Given the description of an element on the screen output the (x, y) to click on. 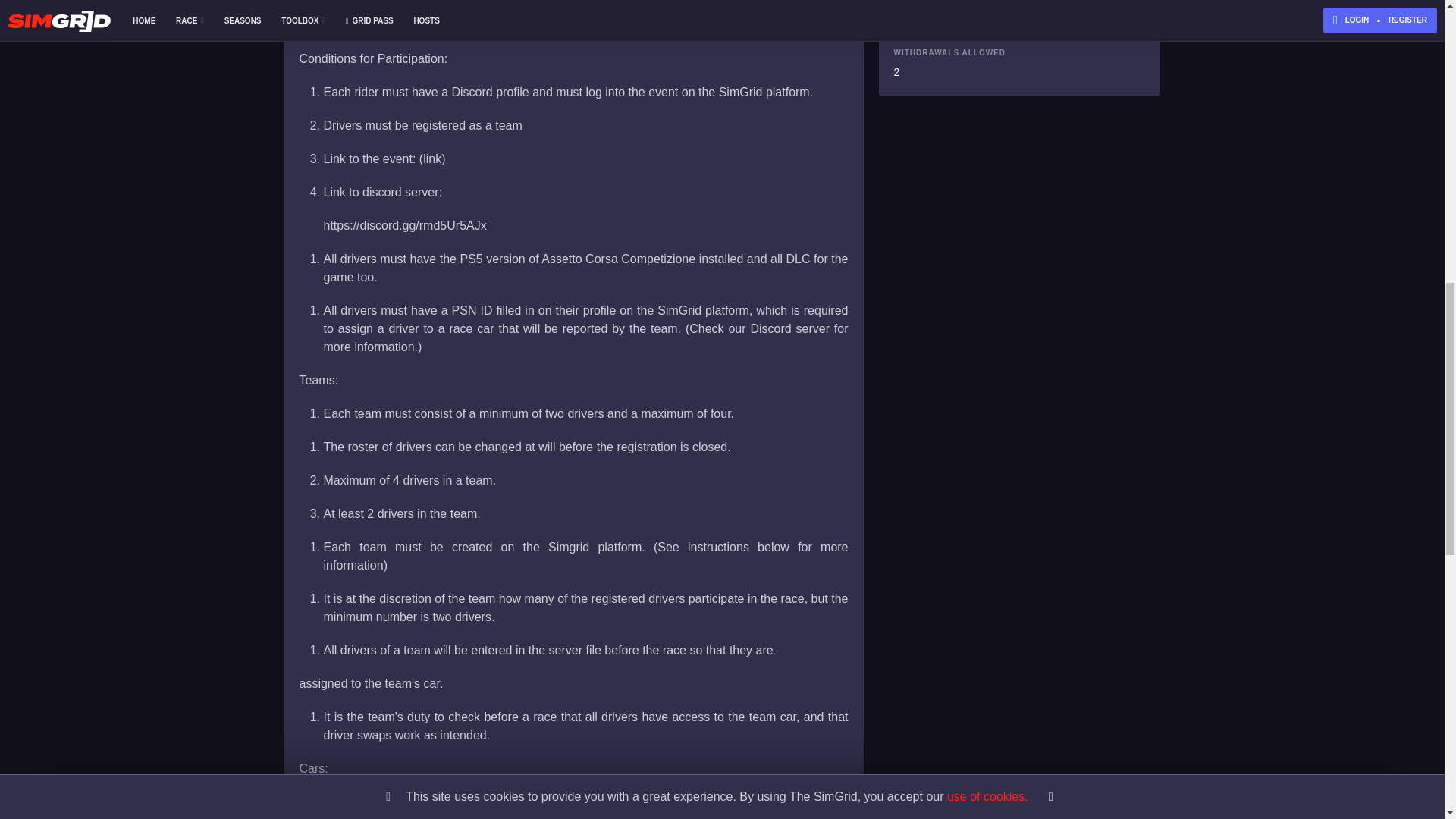
Withdraw from a Race to avoid a no-show penalty. (1018, 52)
